Given the description of an element on the screen output the (x, y) to click on. 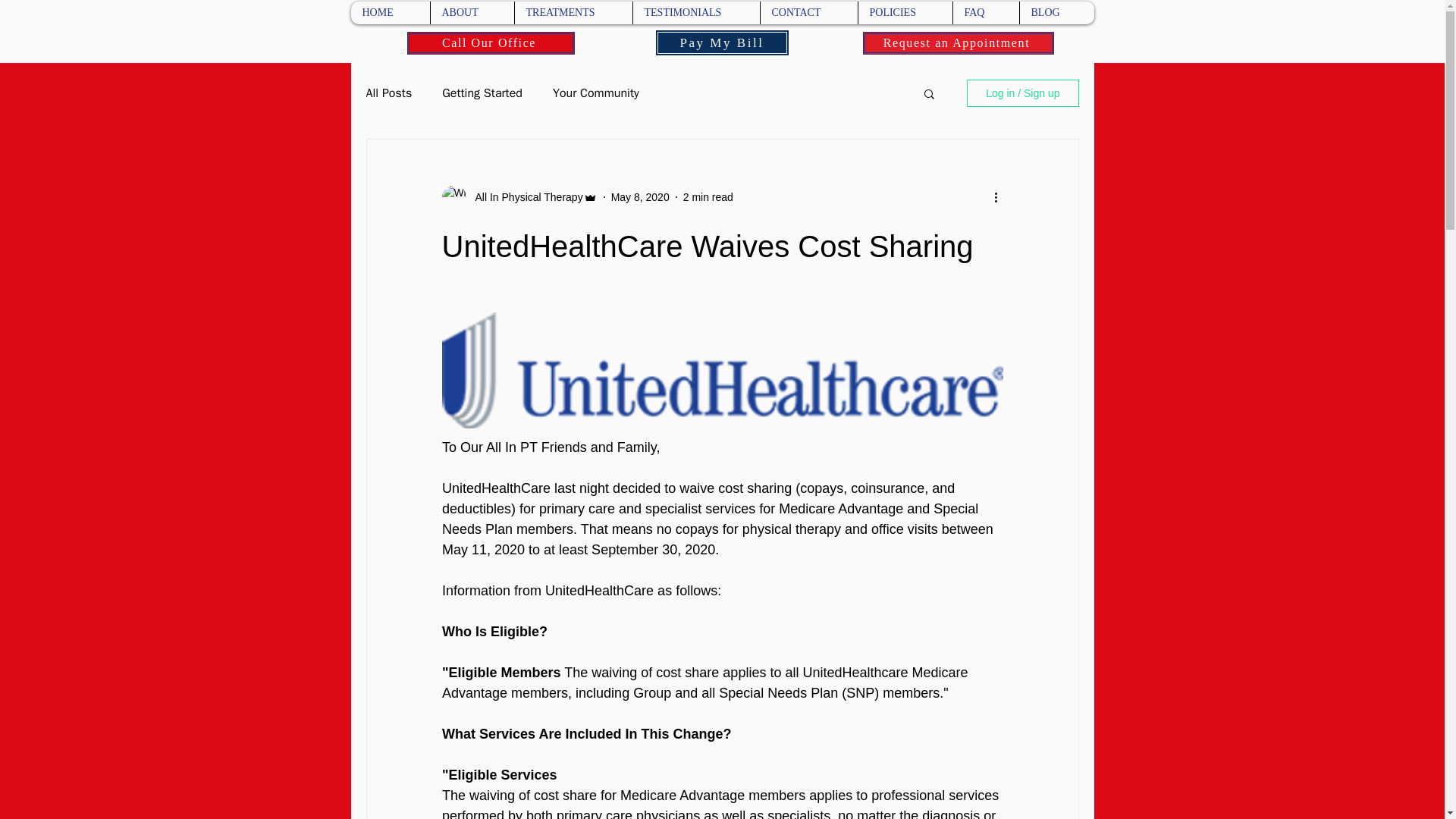
Getting Started (482, 92)
Request an Appointment (958, 42)
HOME (389, 12)
Your Community (596, 92)
POLICIES (904, 12)
All In Physical Therapy (523, 197)
Pay My Bill (722, 42)
ABOUT (471, 12)
May 8, 2020 (640, 196)
TESTIMONIALS (695, 12)
